Given the description of an element on the screen output the (x, y) to click on. 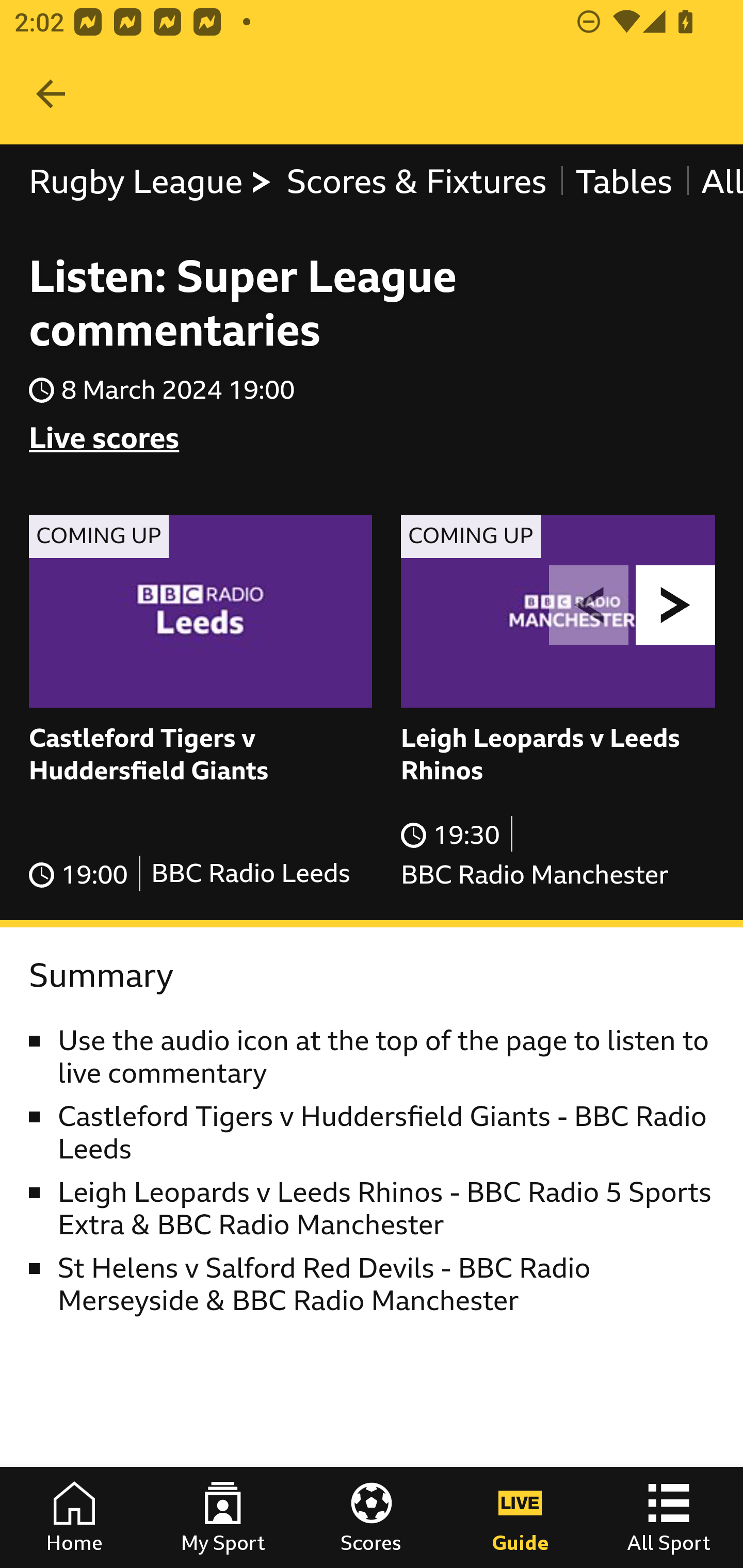
Navigate up (50, 93)
Rugby League  (150, 181)
Scores & Fixtures (416, 181)
Tables (623, 181)
Live scores (104, 438)
previous (589, 605)
next (676, 605)
Home (74, 1517)
My Sport (222, 1517)
Scores (371, 1517)
All Sport (668, 1517)
